Given the description of an element on the screen output the (x, y) to click on. 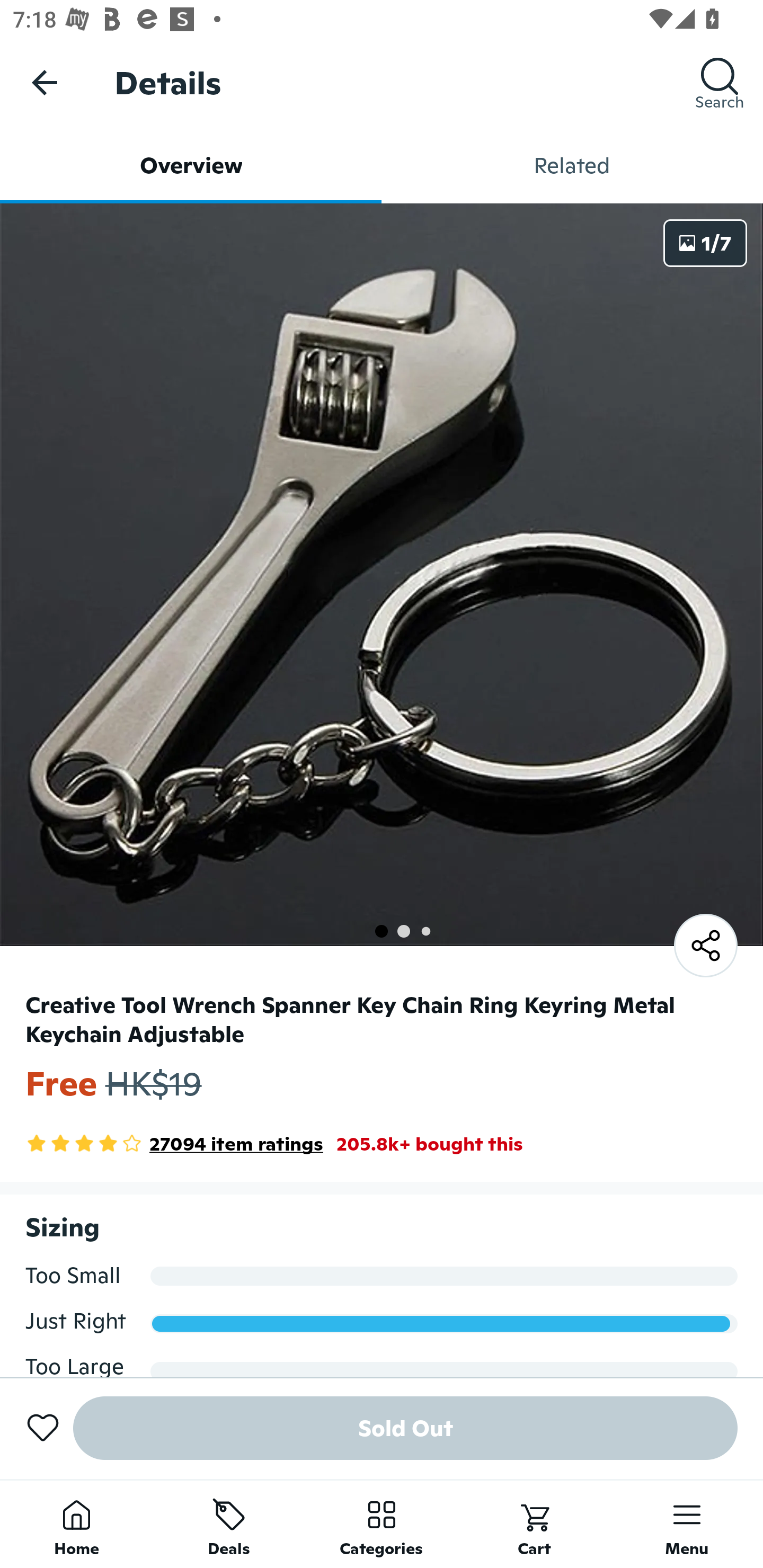
Navigate up (44, 82)
Search (719, 82)
Related (572, 165)
1/7 (705, 242)
4 Star Rating 27094 item ratings (174, 1143)
Sold Out (405, 1428)
Home (76, 1523)
Deals (228, 1523)
Categories (381, 1523)
Cart (533, 1523)
Menu (686, 1523)
